Given the description of an element on the screen output the (x, y) to click on. 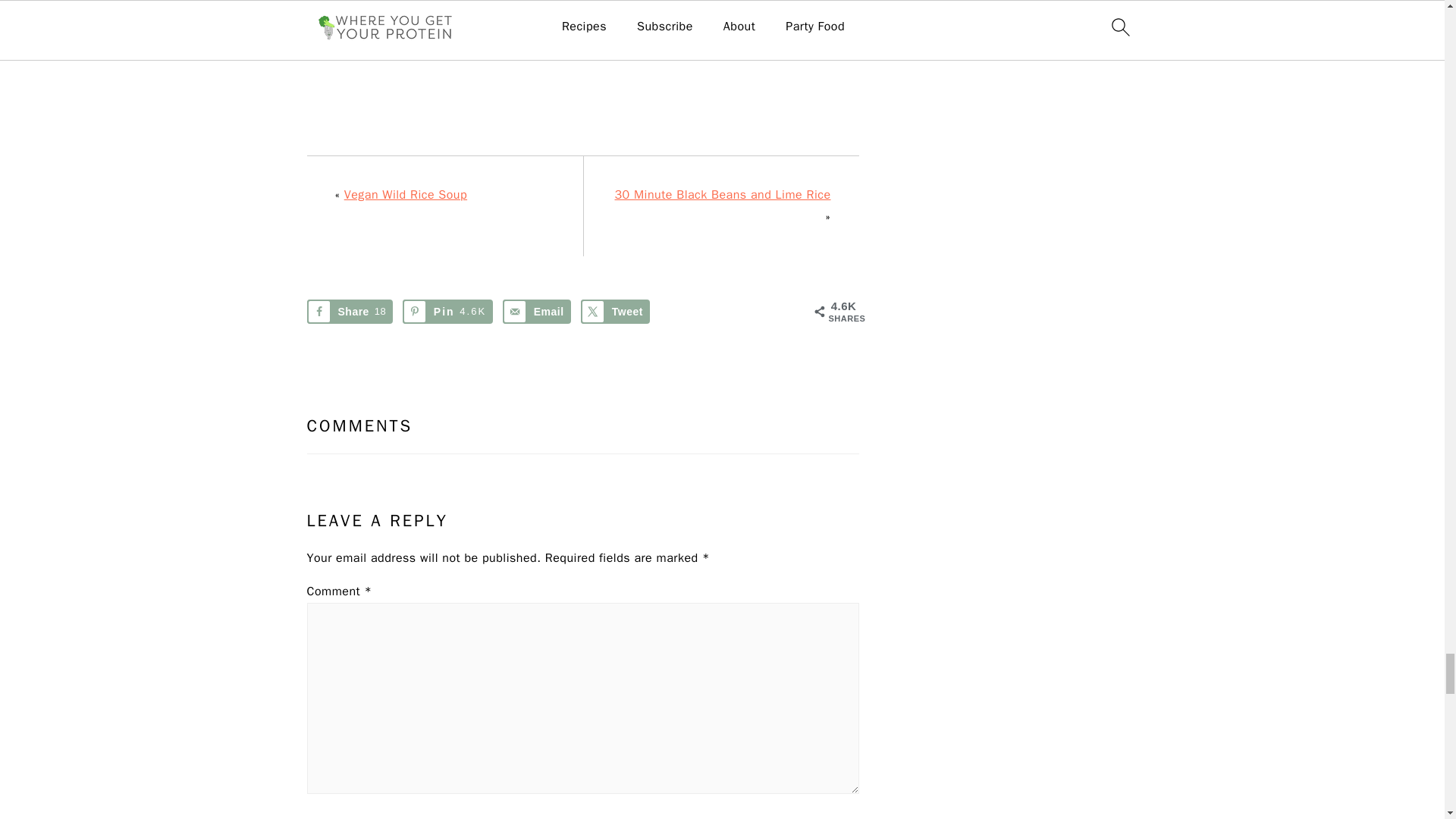
Share on Facebook (348, 311)
Send over email (536, 311)
Share on X (614, 311)
Save to Pinterest (448, 311)
